Given the description of an element on the screen output the (x, y) to click on. 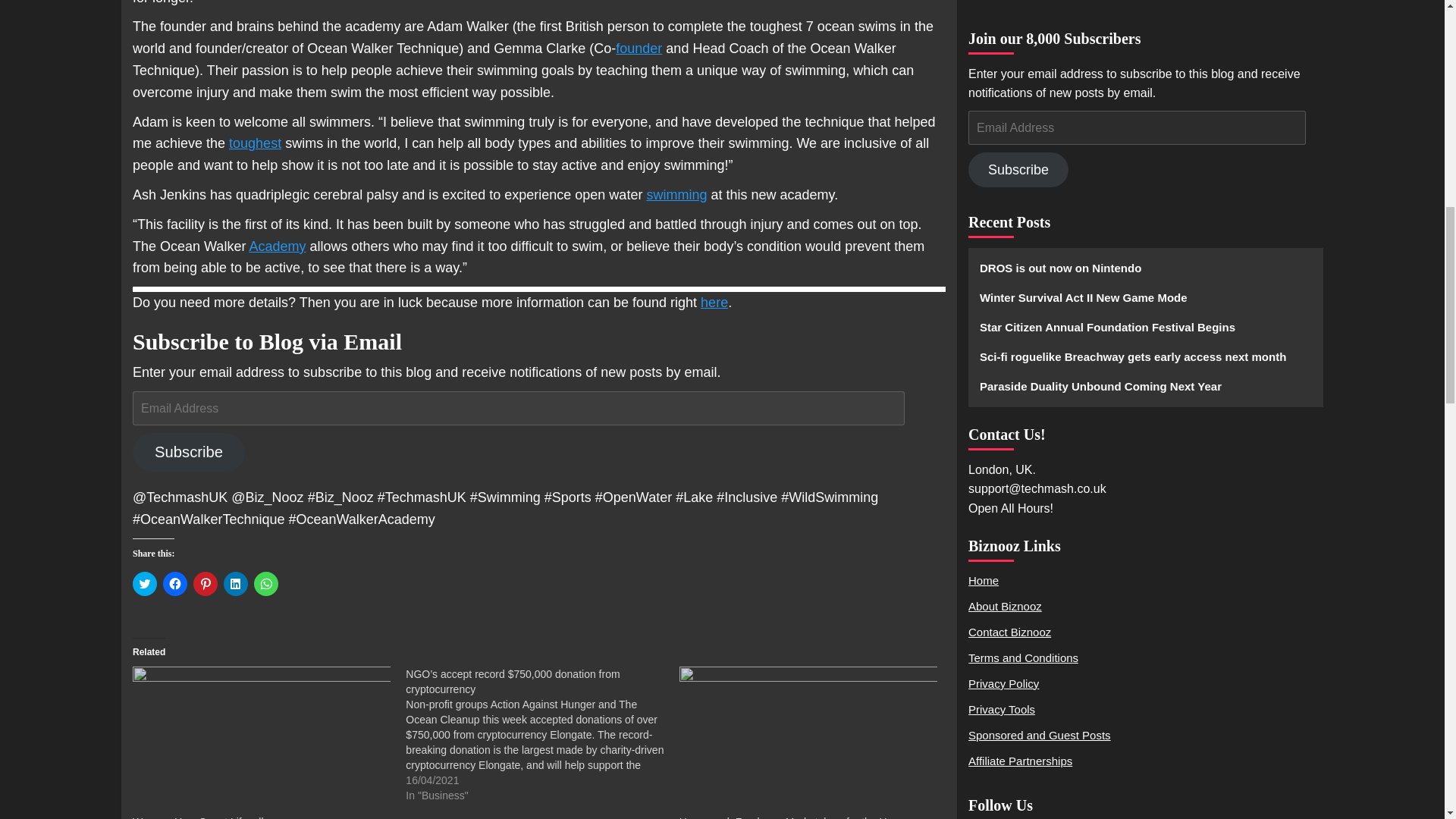
toughest (254, 142)
founder (638, 48)
Click to share on Twitter (144, 583)
swimming (676, 194)
Subscribe (188, 452)
Click to share on WhatsApp (265, 583)
here (714, 302)
Click to share on Facebook (175, 583)
Click to share on LinkedIn (235, 583)
Click to share on Pinterest (204, 583)
Wuanap Your Smart Lifecollar (202, 817)
Academy (276, 246)
Wuanap Your Smart Lifecollar (261, 740)
